Given the description of an element on the screen output the (x, y) to click on. 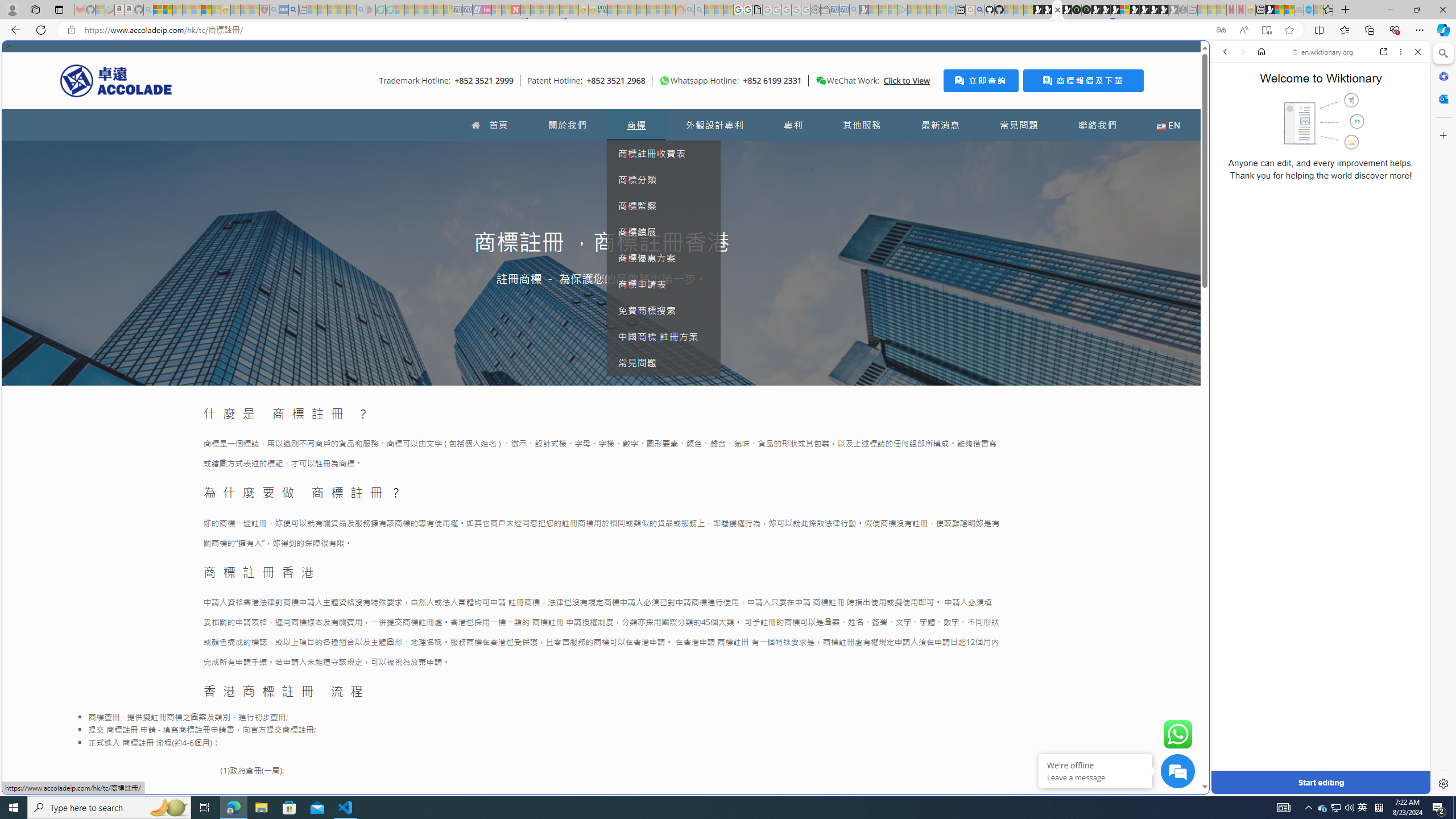
IMAGES (1262, 130)
utah sues federal government - Search (292, 9)
Settings - Sleeping (815, 9)
github - Search (979, 9)
Search Filter, WEB (1230, 129)
Wallet - Sleeping (824, 9)
SEARCH TOOLS (1350, 130)
